Given the description of an element on the screen output the (x, y) to click on. 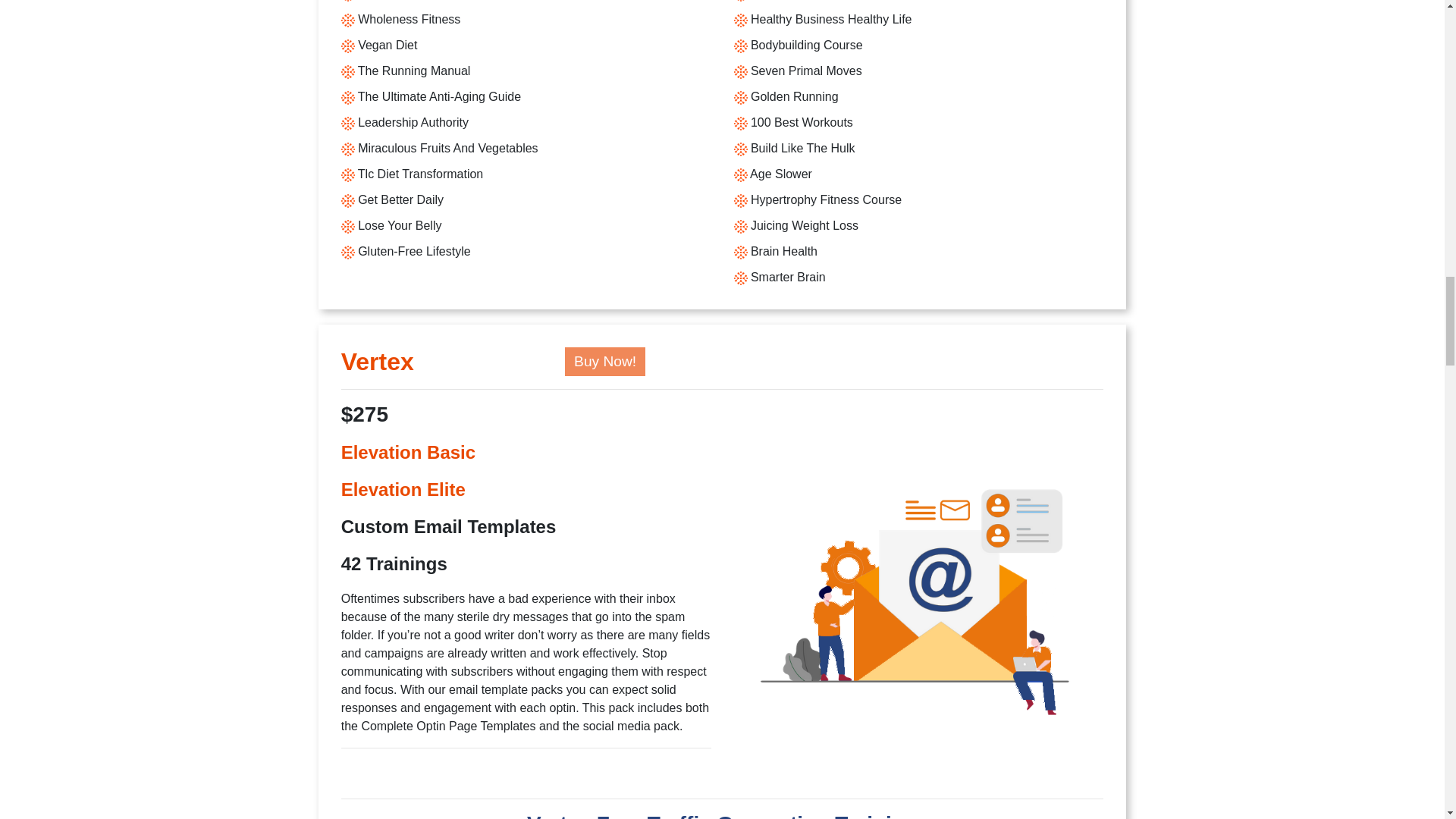
Buy Now! (604, 361)
